Given the description of an element on the screen output the (x, y) to click on. 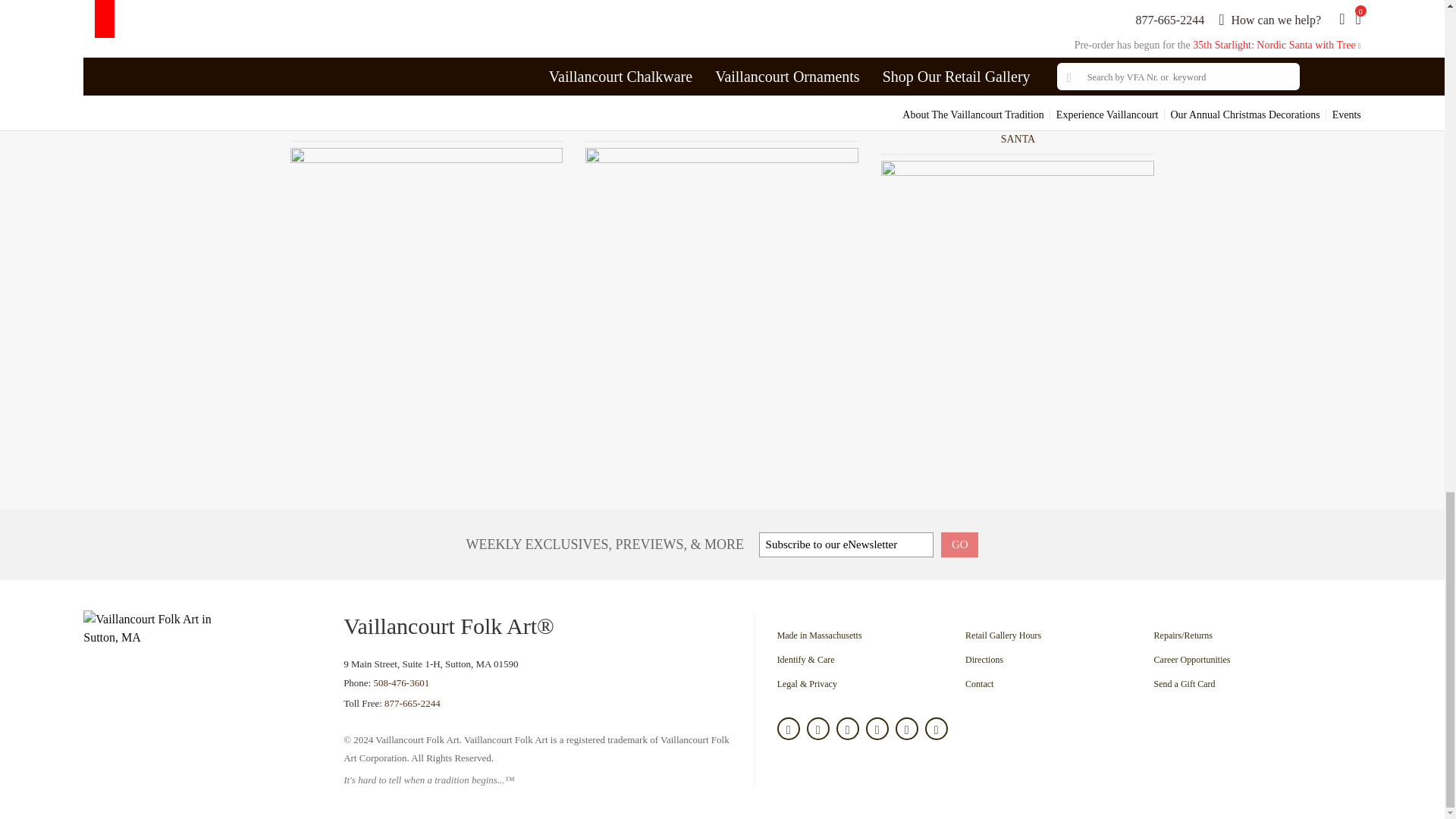
GO (959, 544)
